Given the description of an element on the screen output the (x, y) to click on. 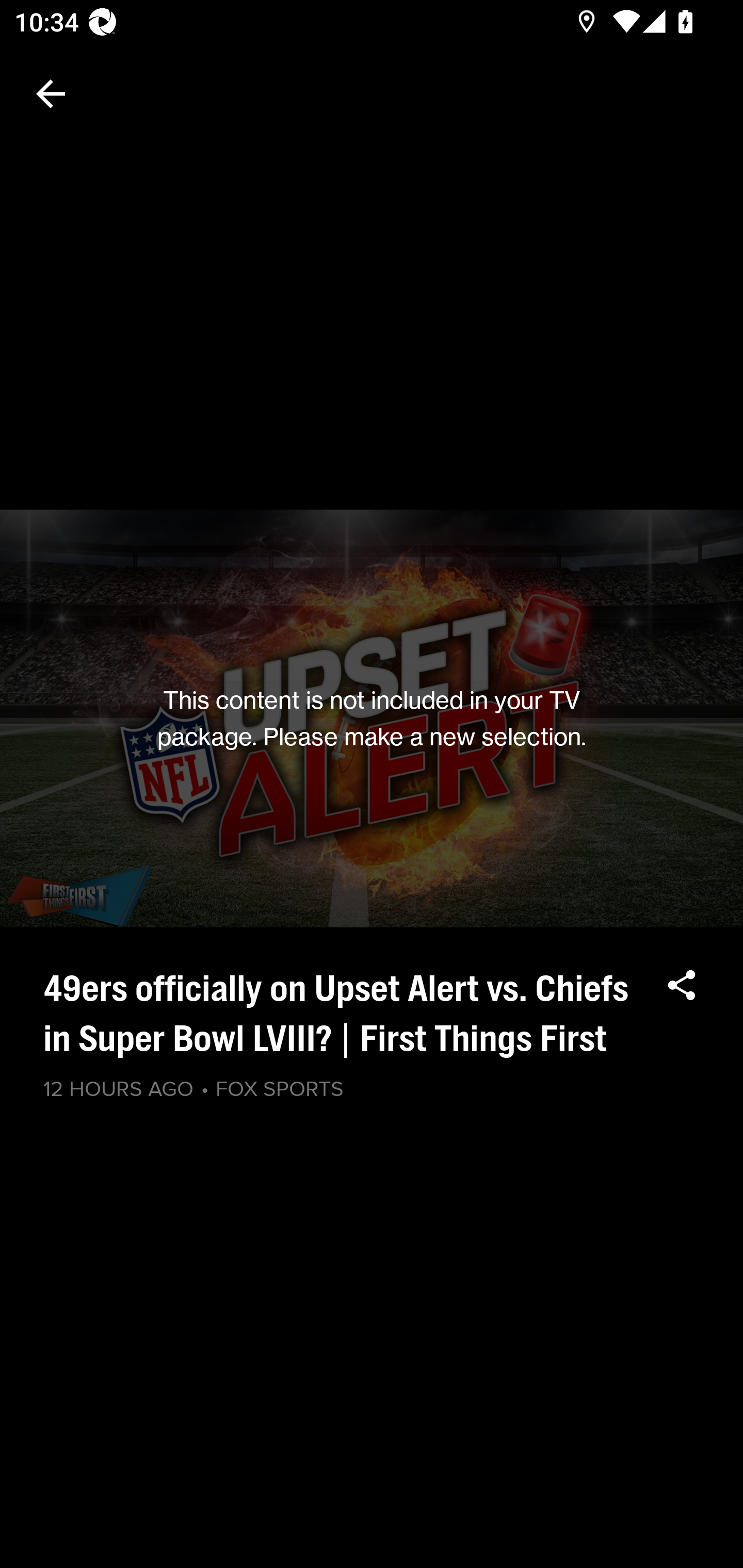
Navigate up (50, 93)
